Given the description of an element on the screen output the (x, y) to click on. 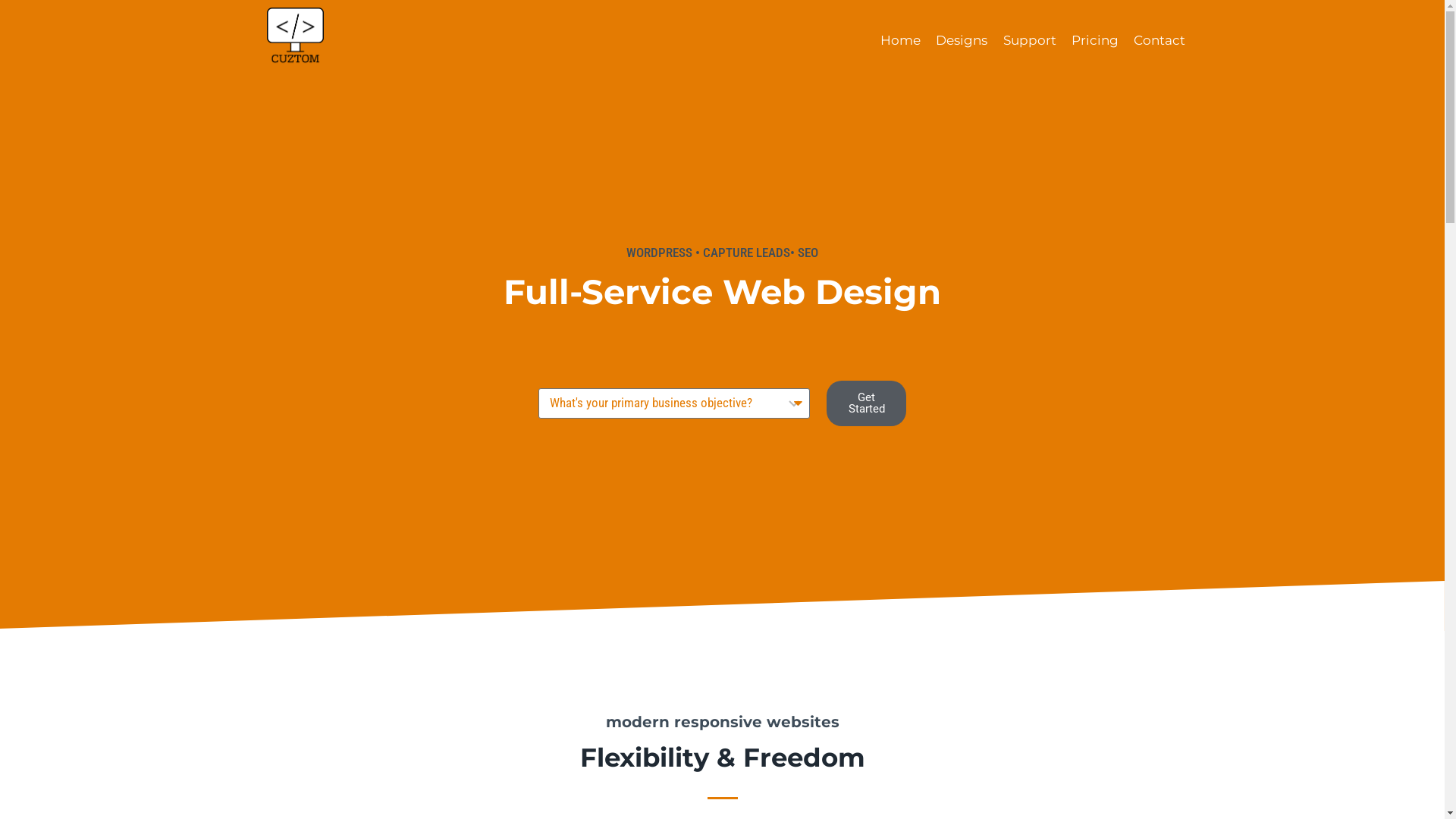
Designs Element type: text (961, 40)
Pricing Element type: text (1094, 40)
Get Started Element type: text (866, 403)
Contact Element type: text (1159, 40)
Home Element type: text (900, 40)
Support Element type: text (1028, 40)
